Given the description of an element on the screen output the (x, y) to click on. 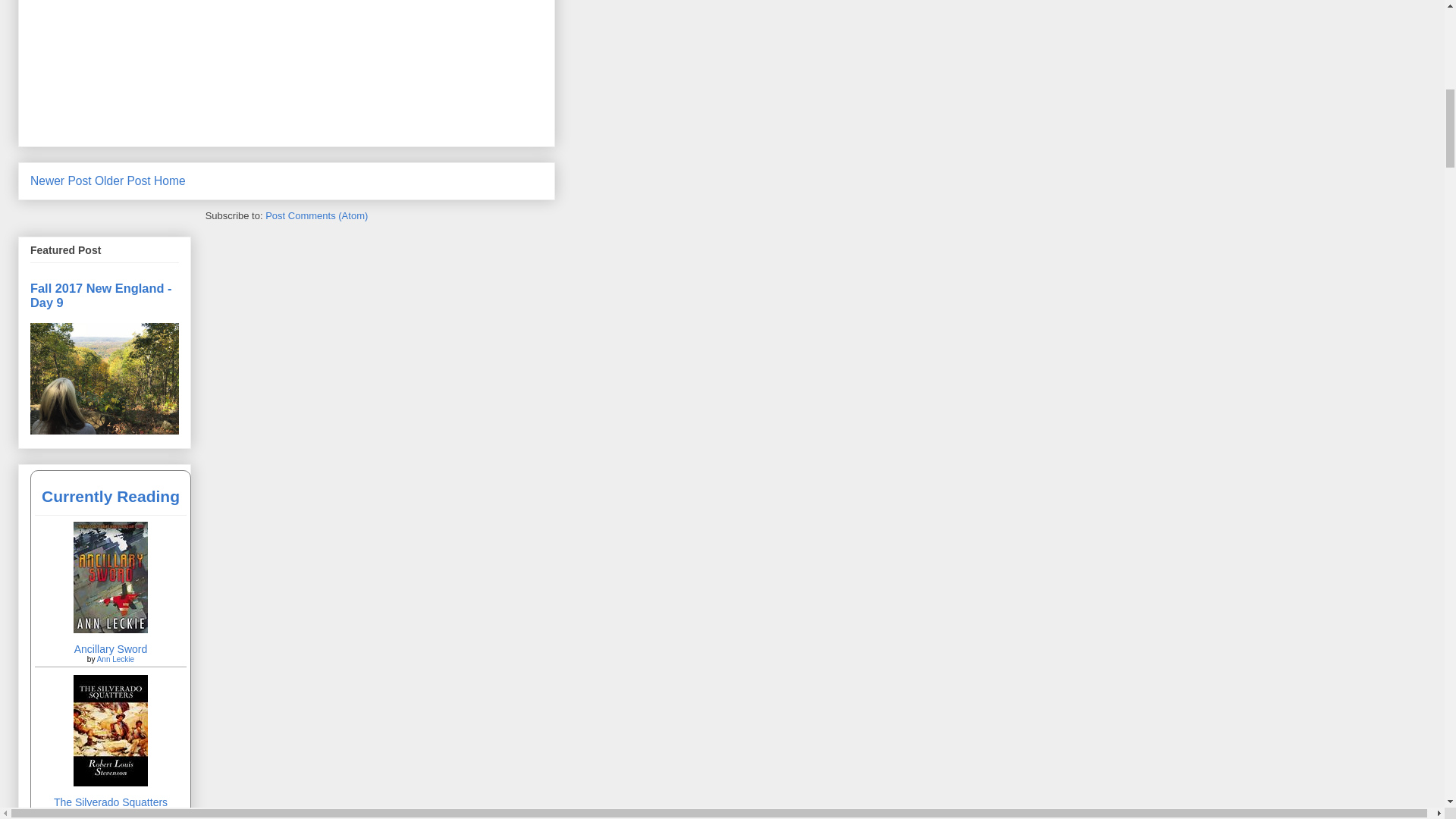
The Silverado Squatters (110, 802)
Older Post (122, 180)
Newer Post (60, 180)
Home (170, 180)
Older Post (122, 180)
Fall 2017 New England - Day 9 (100, 295)
The Silverado Squatters (111, 782)
Robert Louis Stevenson (115, 812)
Ann Leckie (115, 659)
Currently Reading (110, 496)
